Given the description of an element on the screen output the (x, y) to click on. 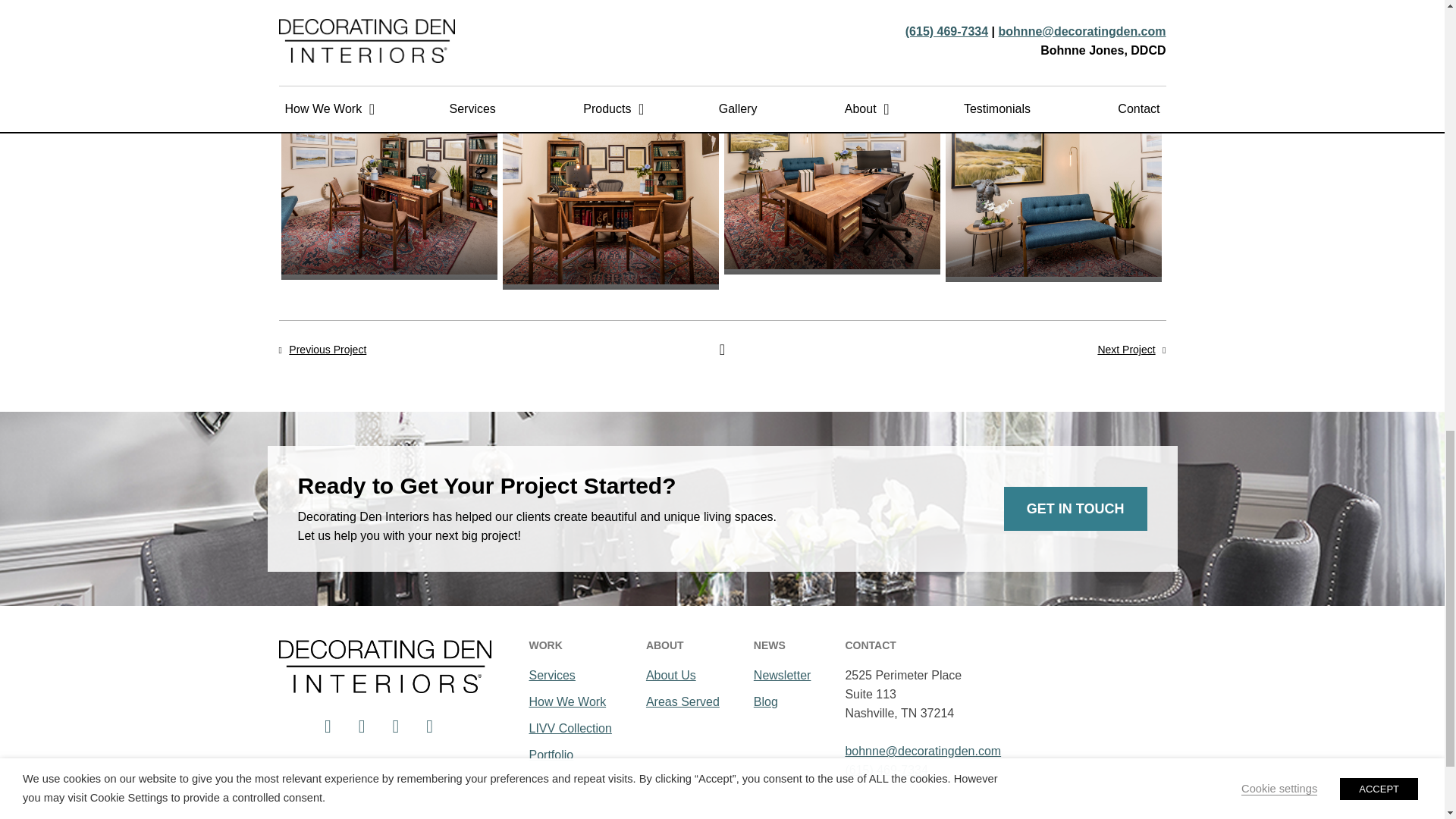
GET IN TOUCH (1075, 508)
Previous Project (327, 349)
LIVV Collection (570, 728)
Portfolio (570, 754)
Next Project (1125, 349)
Services (570, 674)
How We Work (570, 701)
About Us (682, 674)
